Given the description of an element on the screen output the (x, y) to click on. 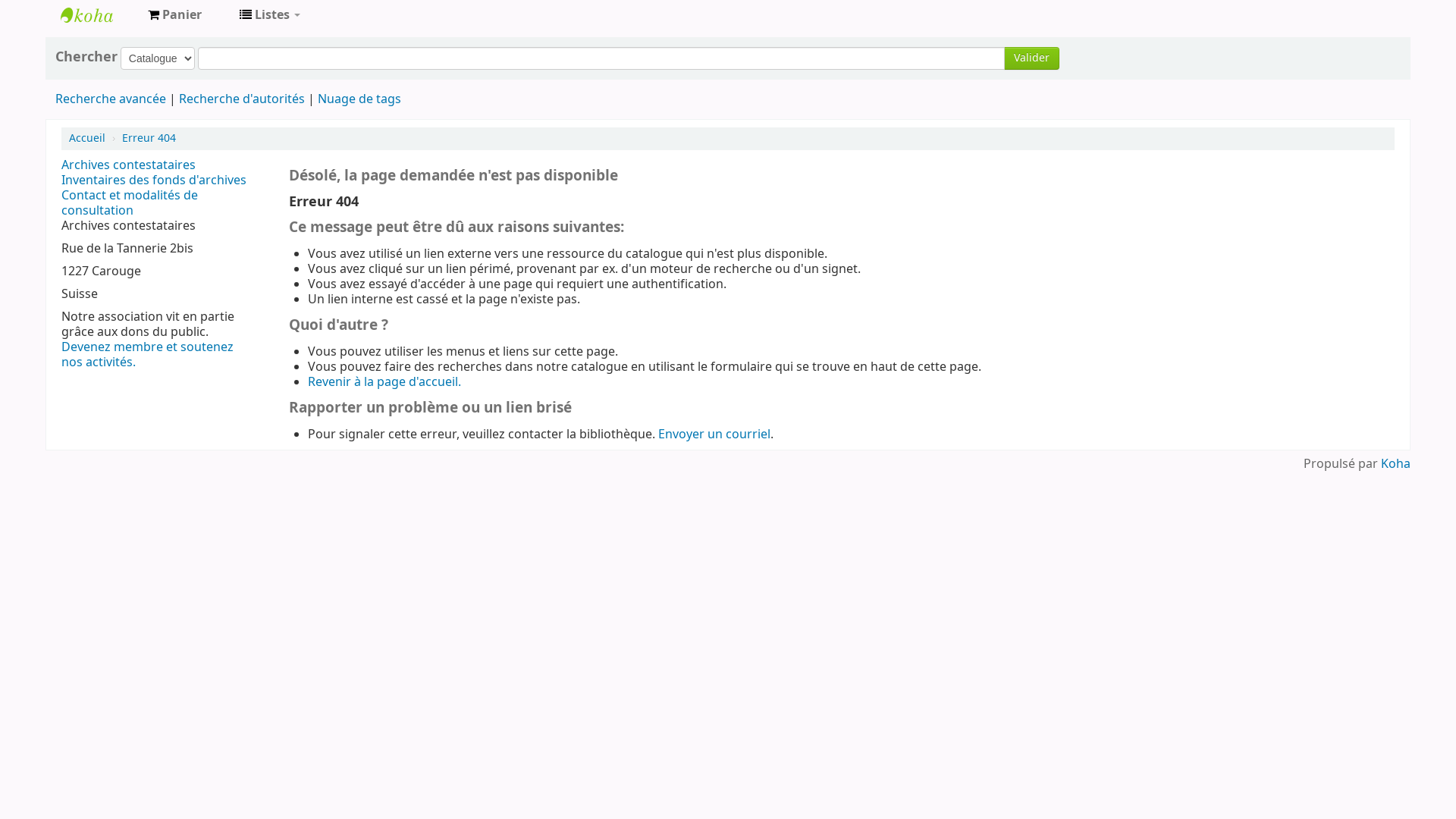
Nuage de tags Element type: text (359, 99)
Erreur 404 Element type: text (148, 138)
Valider Element type: text (1031, 58)
Accueil Element type: text (87, 138)
Koha Element type: text (1395, 464)
Listes Element type: text (269, 15)
Panier Element type: text (174, 15)
Archives contestataires Element type: text (128, 165)
Archives contestataires Element type: text (98, 15)
Envoyer un courriel Element type: text (714, 434)
Saisissez votre recherche Element type: hover (600, 58)
Inventaires des fonds d'archives Element type: text (153, 180)
